Given the description of an element on the screen output the (x, y) to click on. 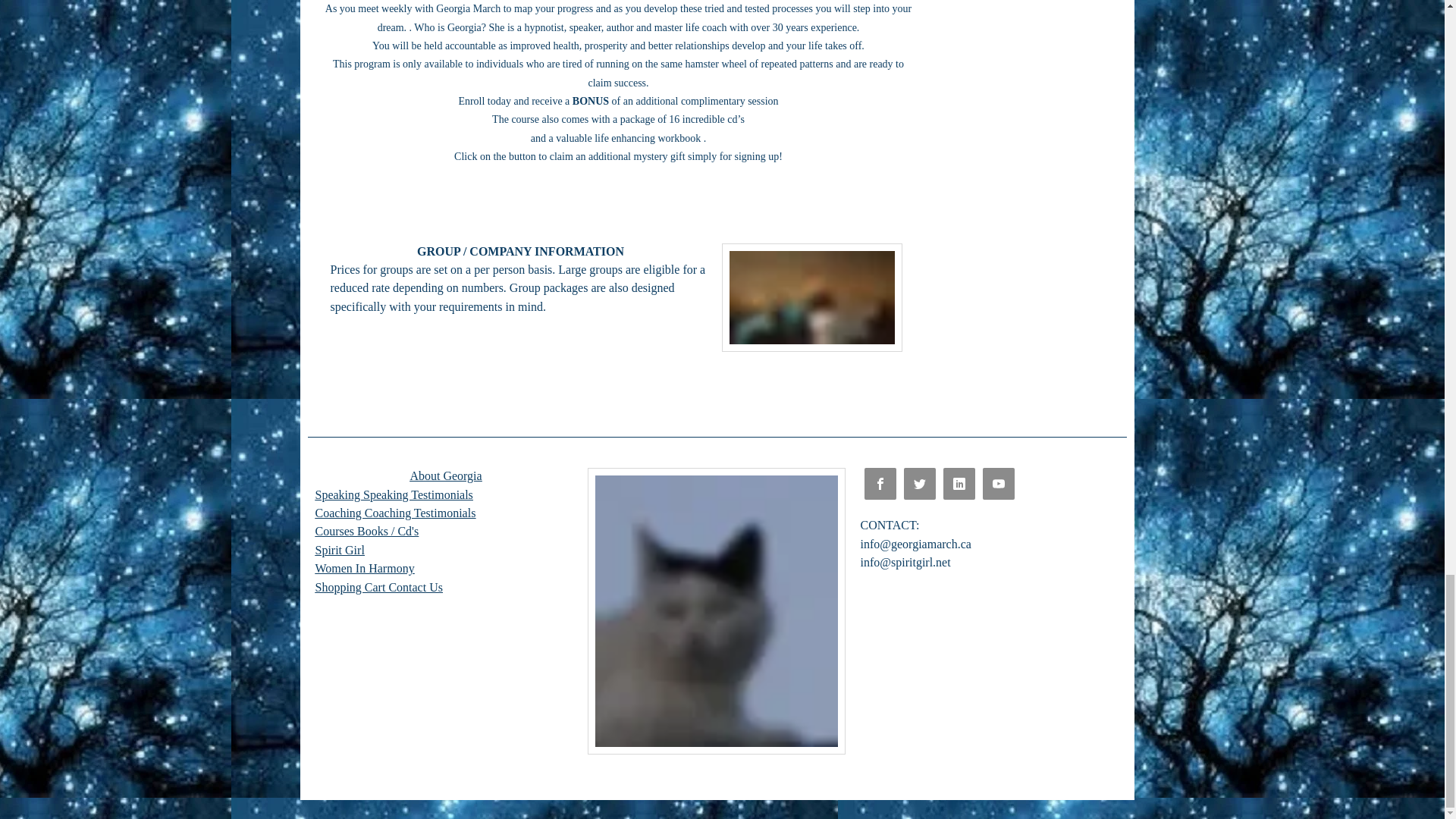
Shopping Cart Contact Us (378, 586)
Women In Harmony (364, 567)
Embedded Content (623, 207)
Spirit Girl (340, 549)
Coaching Coaching Testimonials (395, 512)
About Georgia (445, 475)
Speaking Speaking Testimonials (394, 494)
